Given the description of an element on the screen output the (x, y) to click on. 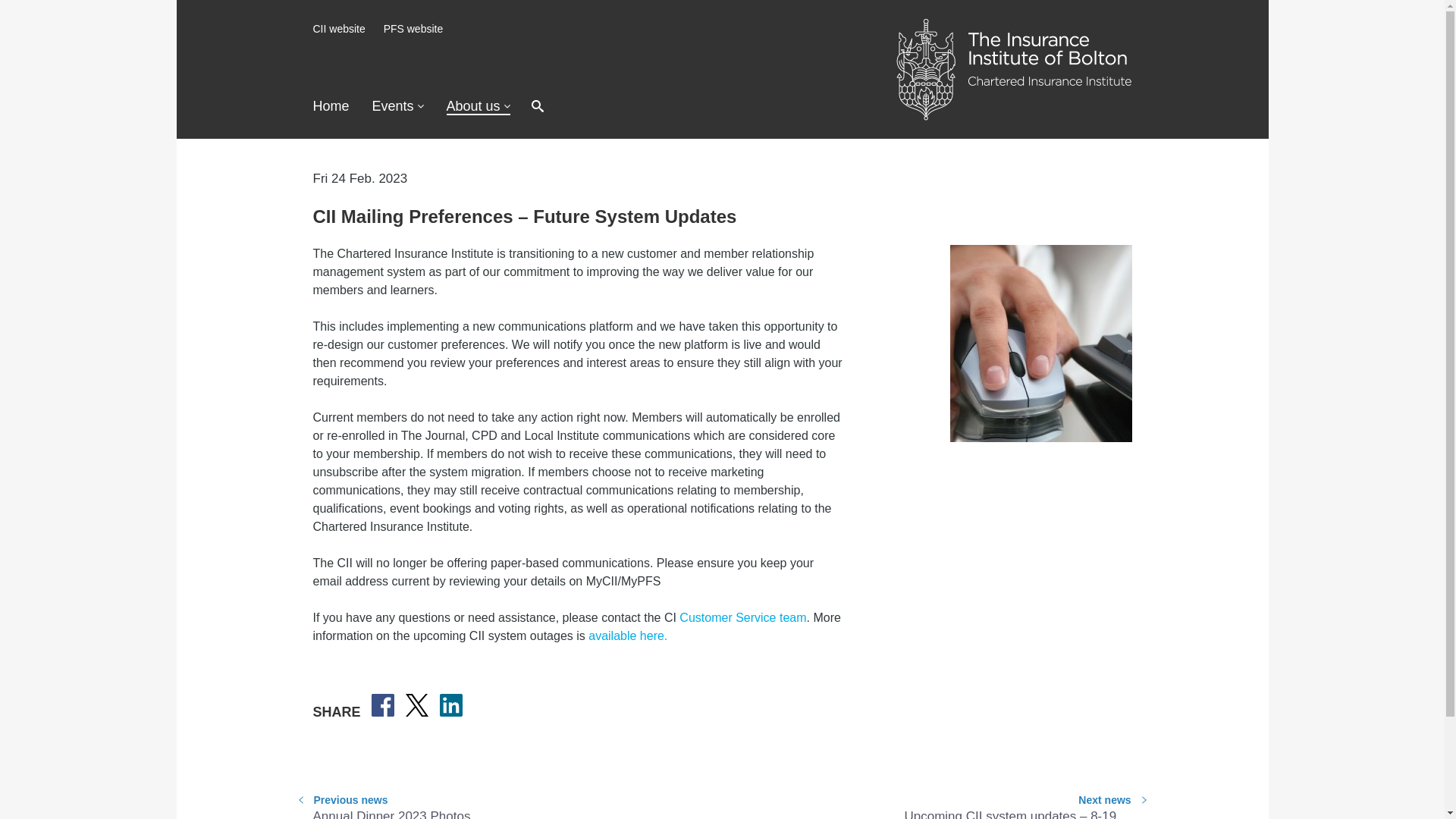
available here. (627, 635)
Events (397, 105)
PFS website (414, 28)
Go (735, 106)
Customer Service team (742, 617)
Home (331, 105)
CII website (339, 28)
